Given the description of an element on the screen output the (x, y) to click on. 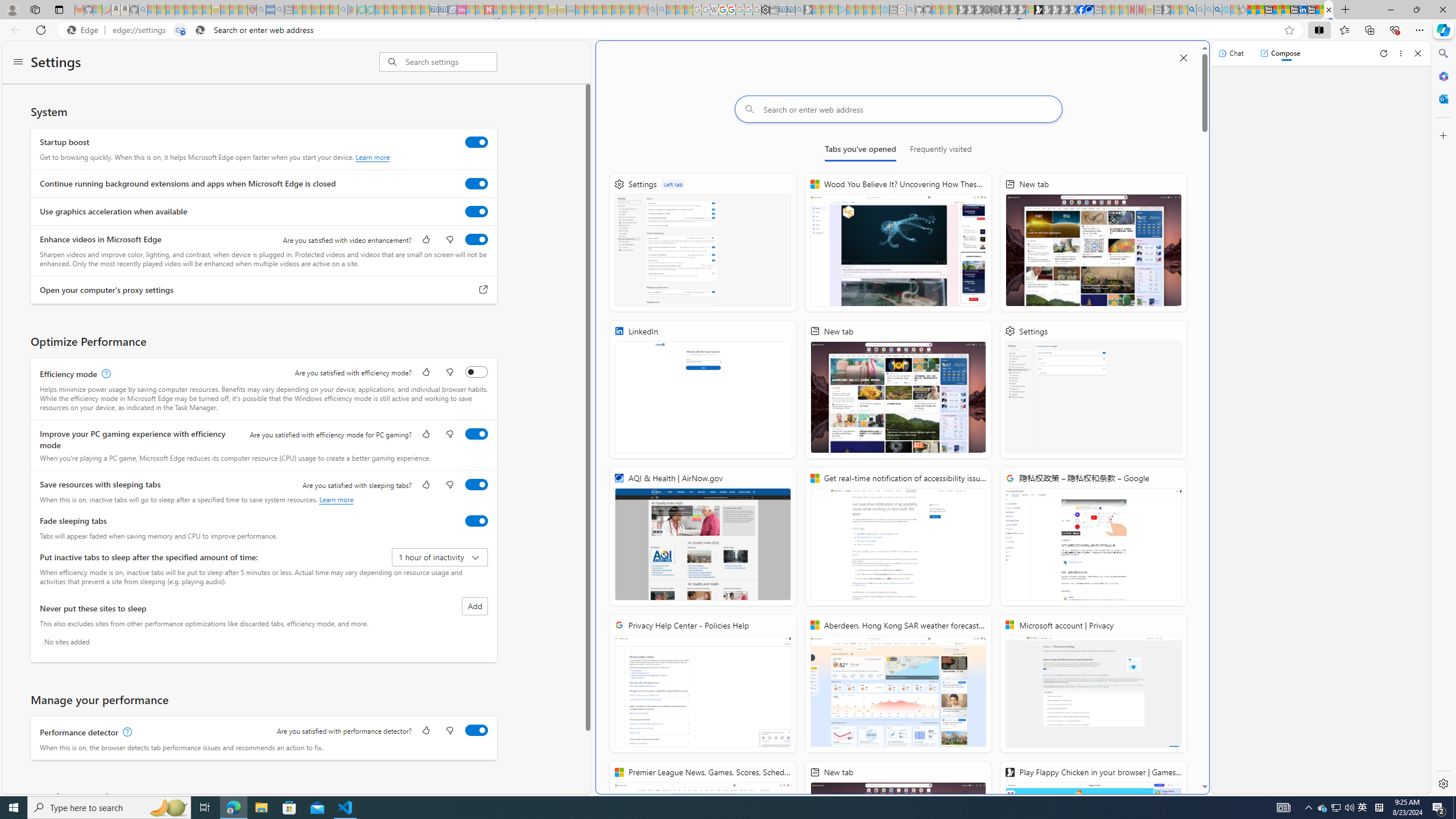
AQI & Health | AirNow.gov (1089, 9)
Efficiency mode, learn more (104, 374)
Favorites - Sleeping (1243, 9)
Fade sleeping tabs (476, 520)
AQI & Health | AirNow.gov (703, 536)
